Given the description of an element on the screen output the (x, y) to click on. 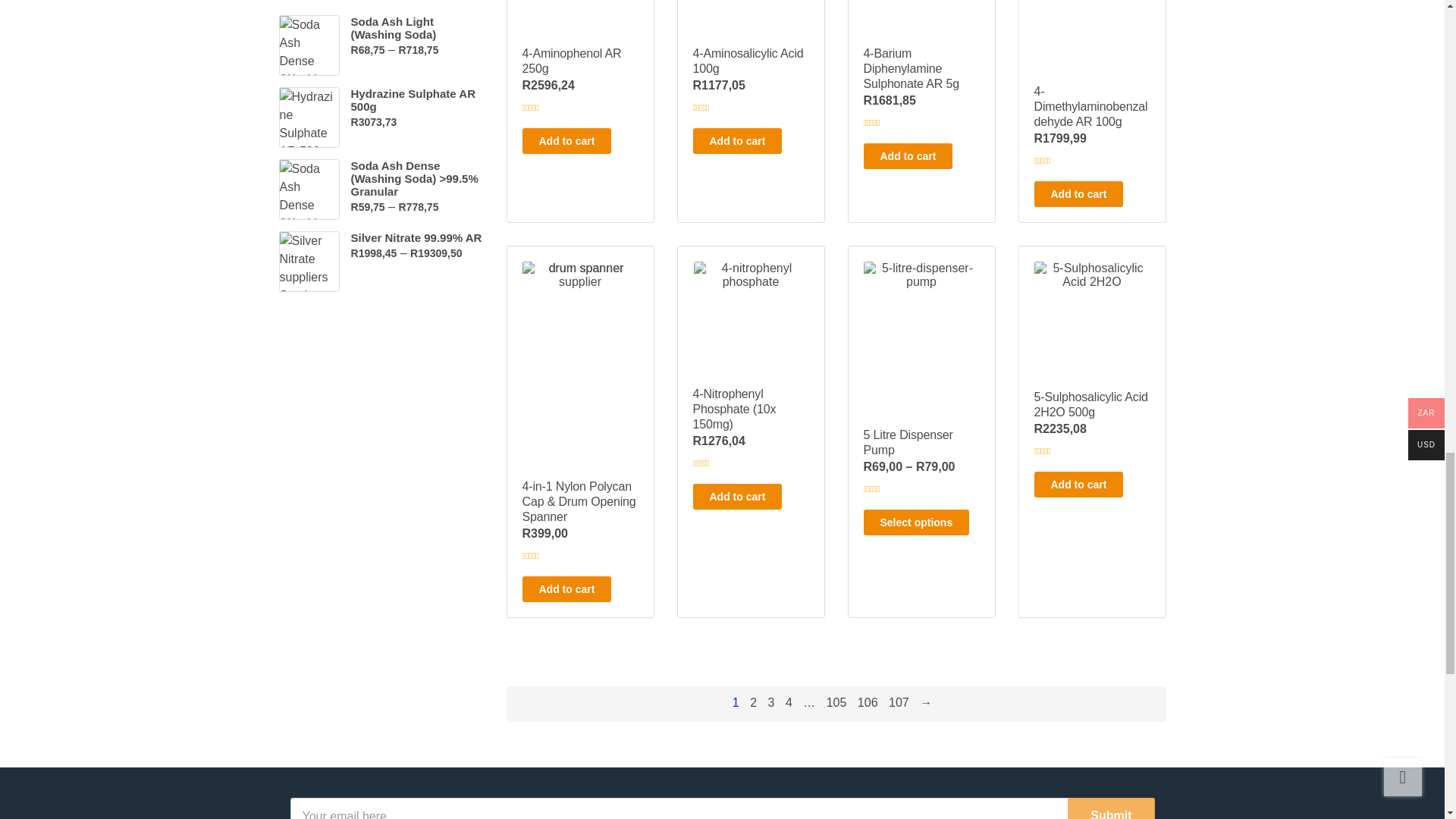
Submit (1110, 808)
